Given the description of an element on the screen output the (x, y) to click on. 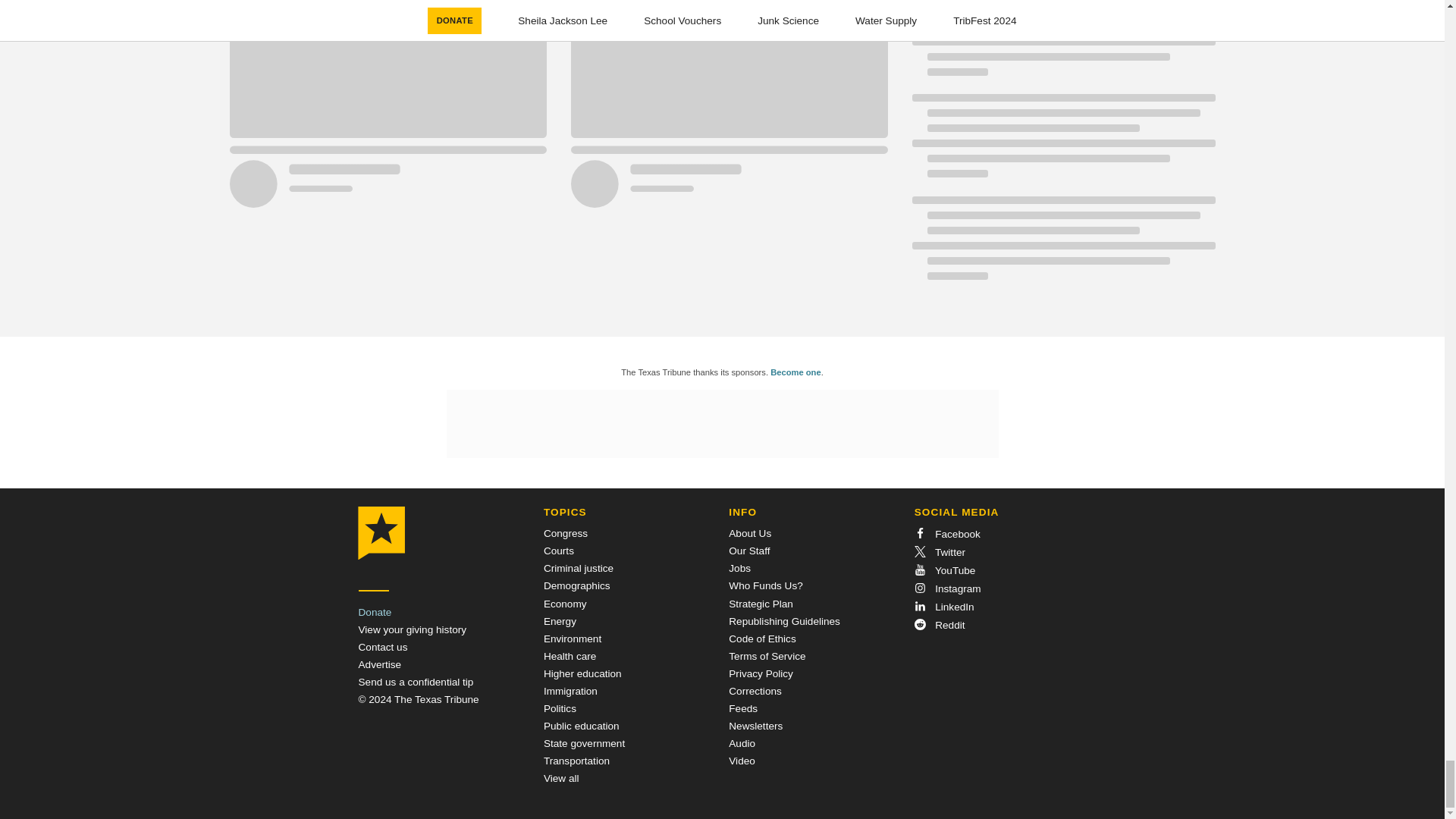
About Us (750, 532)
Donate (374, 612)
Advertise (379, 664)
Corrections (755, 690)
Republishing Guidelines (784, 621)
Feeds (743, 708)
Contact us (382, 646)
Strategic Plan (761, 603)
Who Funds Us? (765, 585)
Code of Ethics (761, 638)
Audio (742, 743)
Terms of Service (767, 655)
Newsletters (756, 726)
View your giving history (411, 629)
Send a Tip (415, 681)
